Given the description of an element on the screen output the (x, y) to click on. 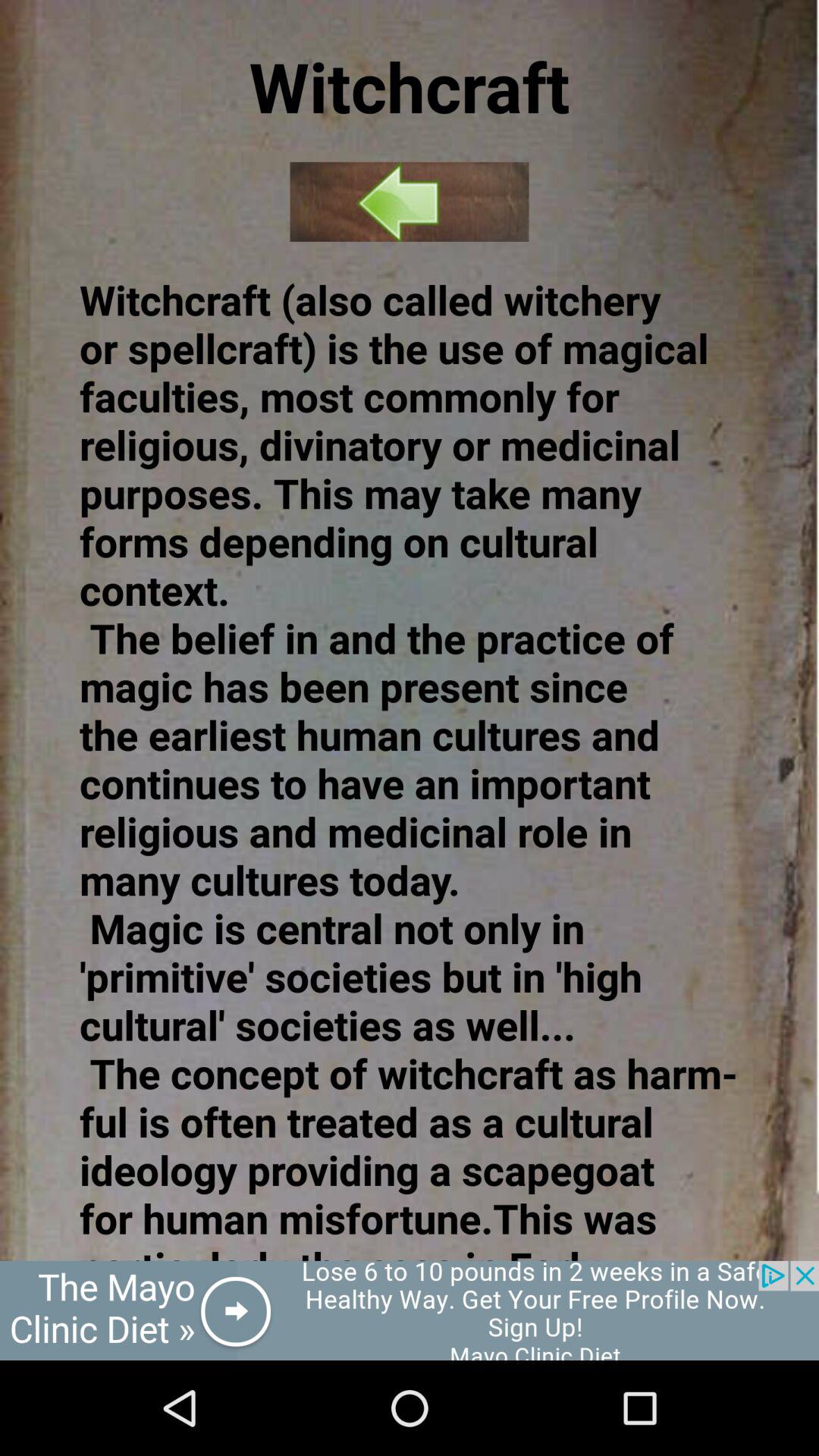
next (409, 201)
